Given the description of an element on the screen output the (x, y) to click on. 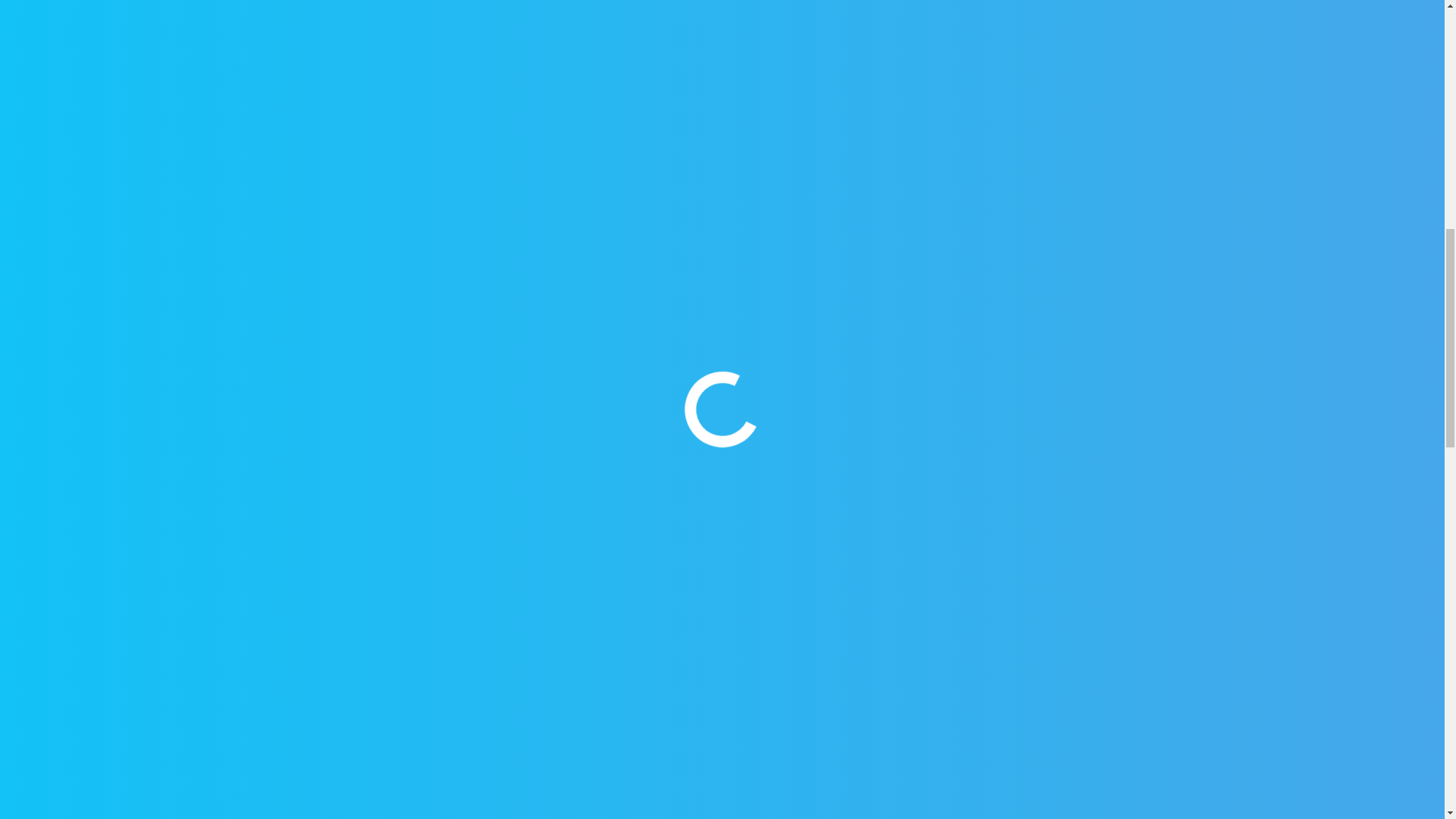
Entries feed (316, 299)
Log in (296, 262)
WordPress.org (326, 381)
Comments feed (329, 340)
